Given the description of an element on the screen output the (x, y) to click on. 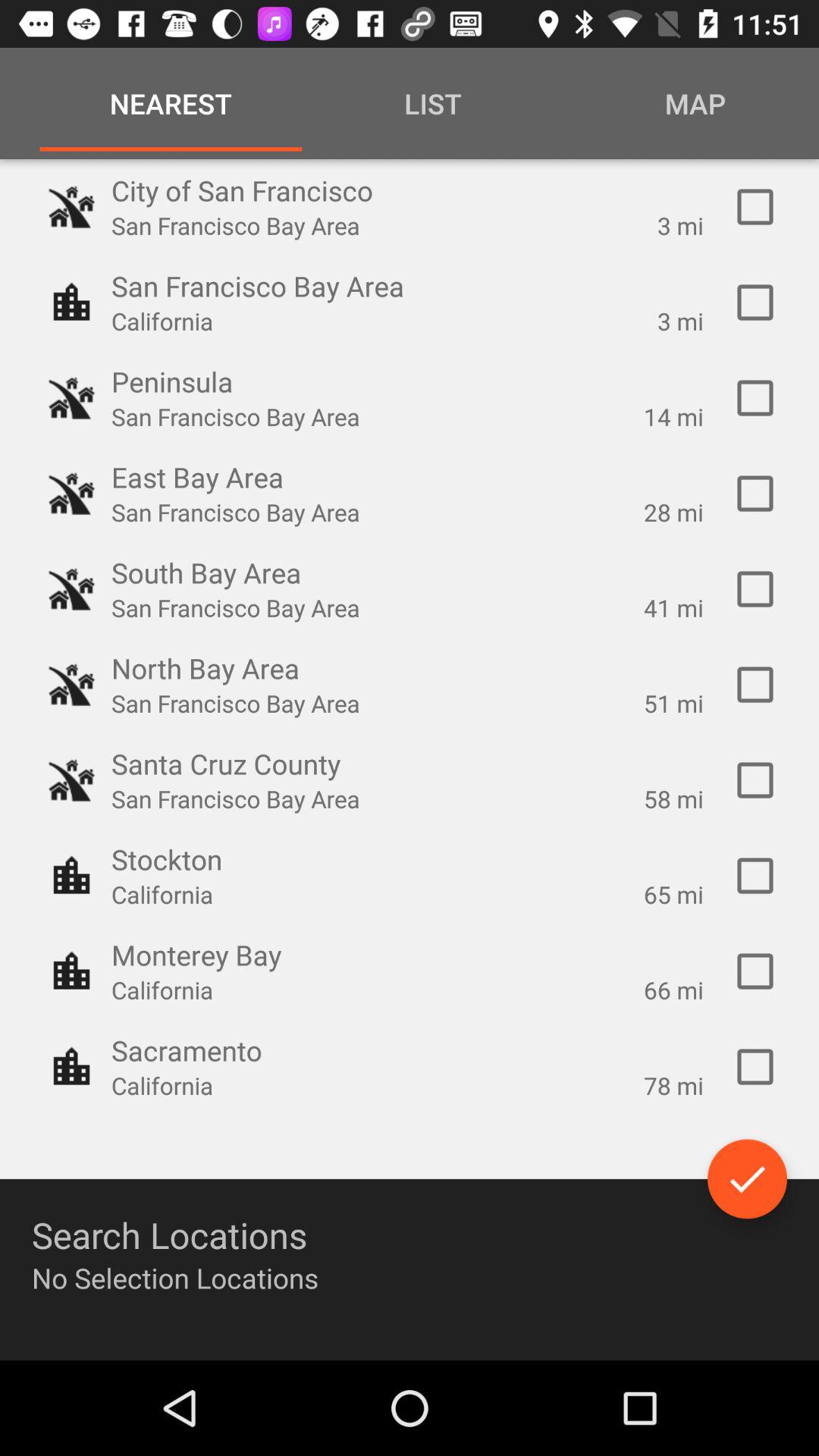
toggle this item (755, 397)
